Given the description of an element on the screen output the (x, y) to click on. 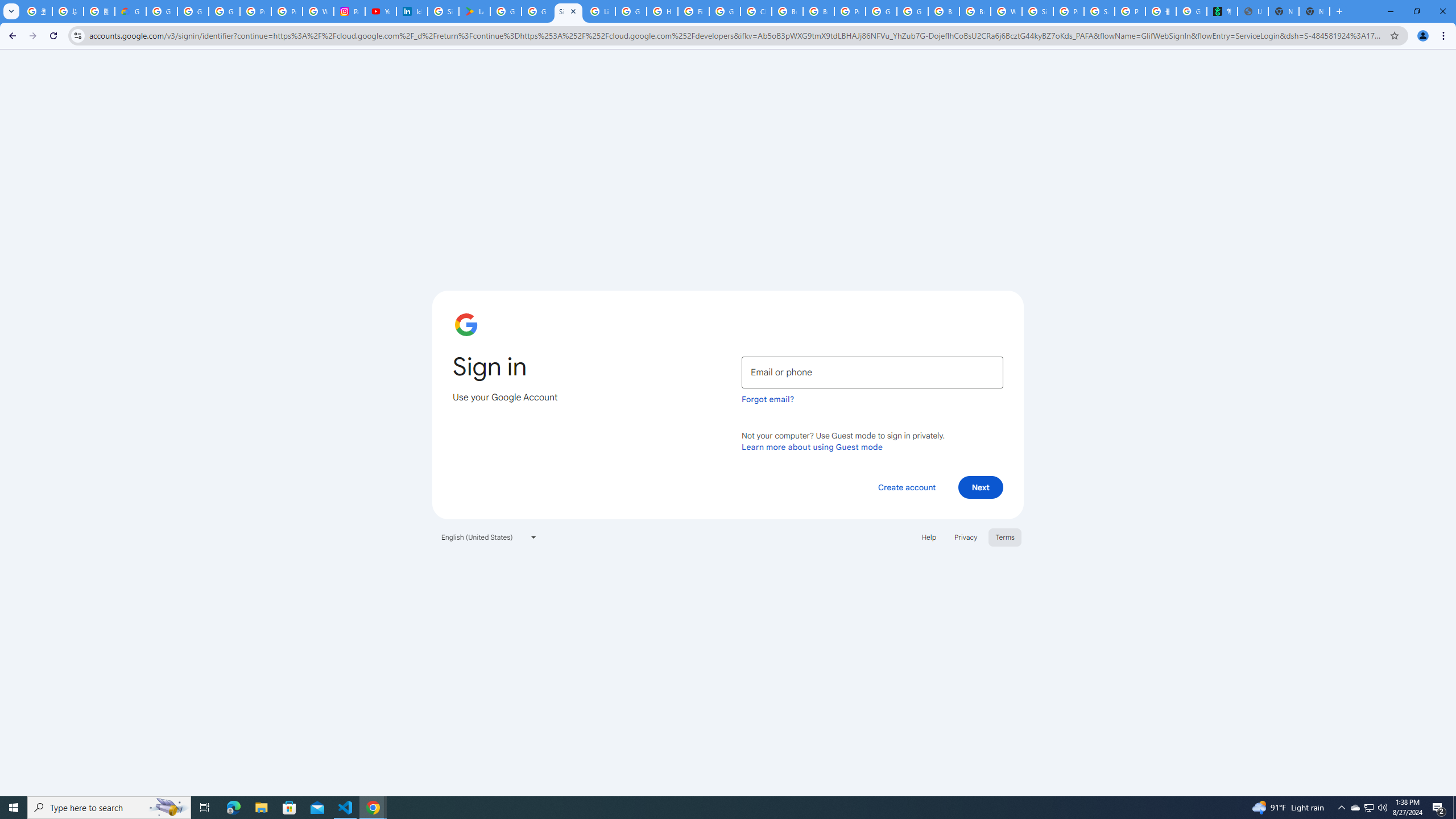
Browse Chrome as a guest - Computer - Google Chrome Help (787, 11)
Browse Chrome as a guest - Computer - Google Chrome Help (818, 11)
English (United States) (489, 536)
Help (928, 536)
How do I create a new Google Account? - Google Account Help (662, 11)
Privacy (965, 536)
YouTube Culture & Trends - On The Rise: Handcam Videos (380, 11)
